Given the description of an element on the screen output the (x, y) to click on. 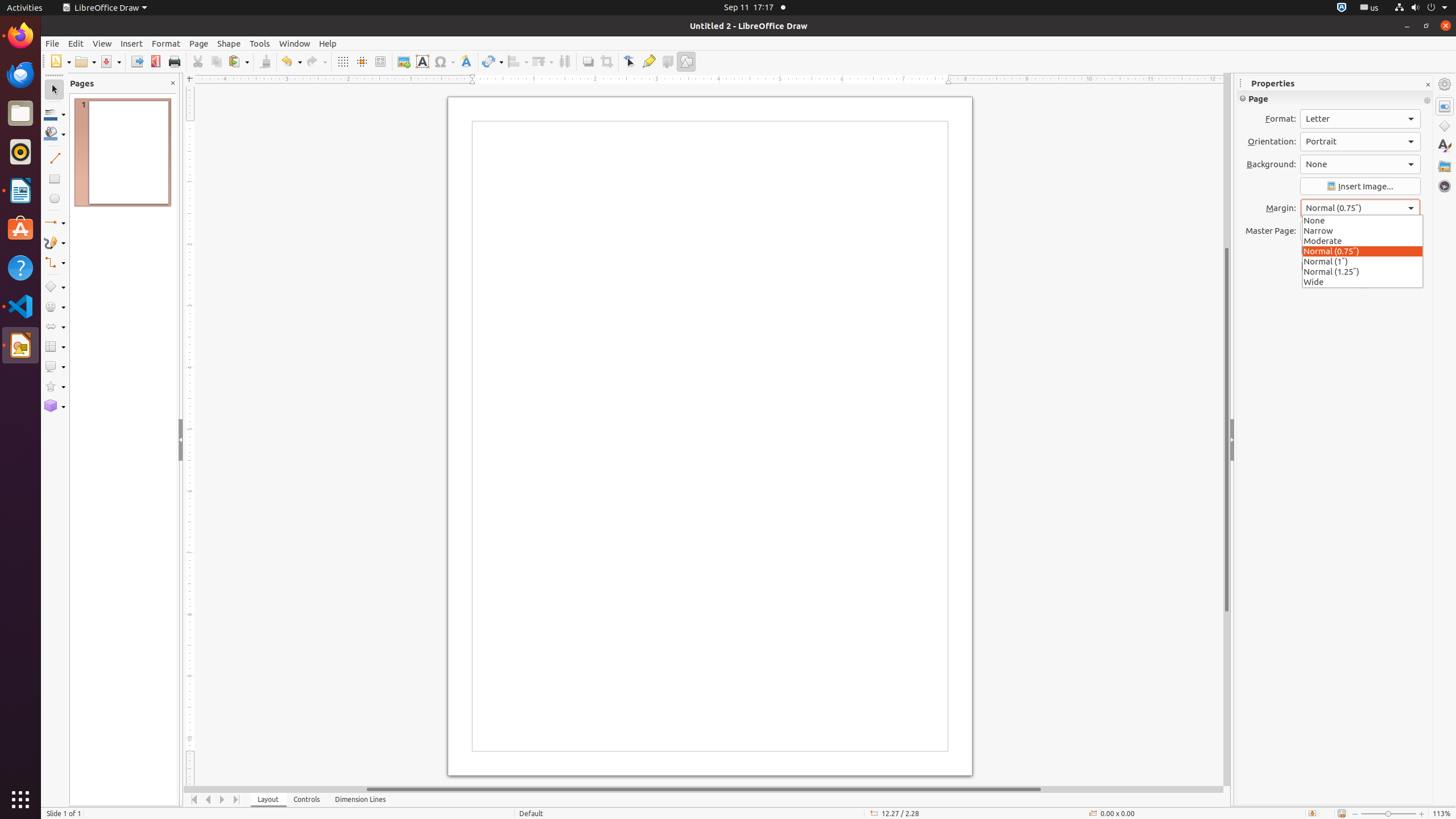
Help Element type: push-button (20, 267)
View Element type: menu (102, 43)
Files Element type: push-button (20, 113)
:1.21/StatusNotifierItem Element type: menu (1369, 7)
Align Element type: push-button (517, 61)
